Given the description of an element on the screen output the (x, y) to click on. 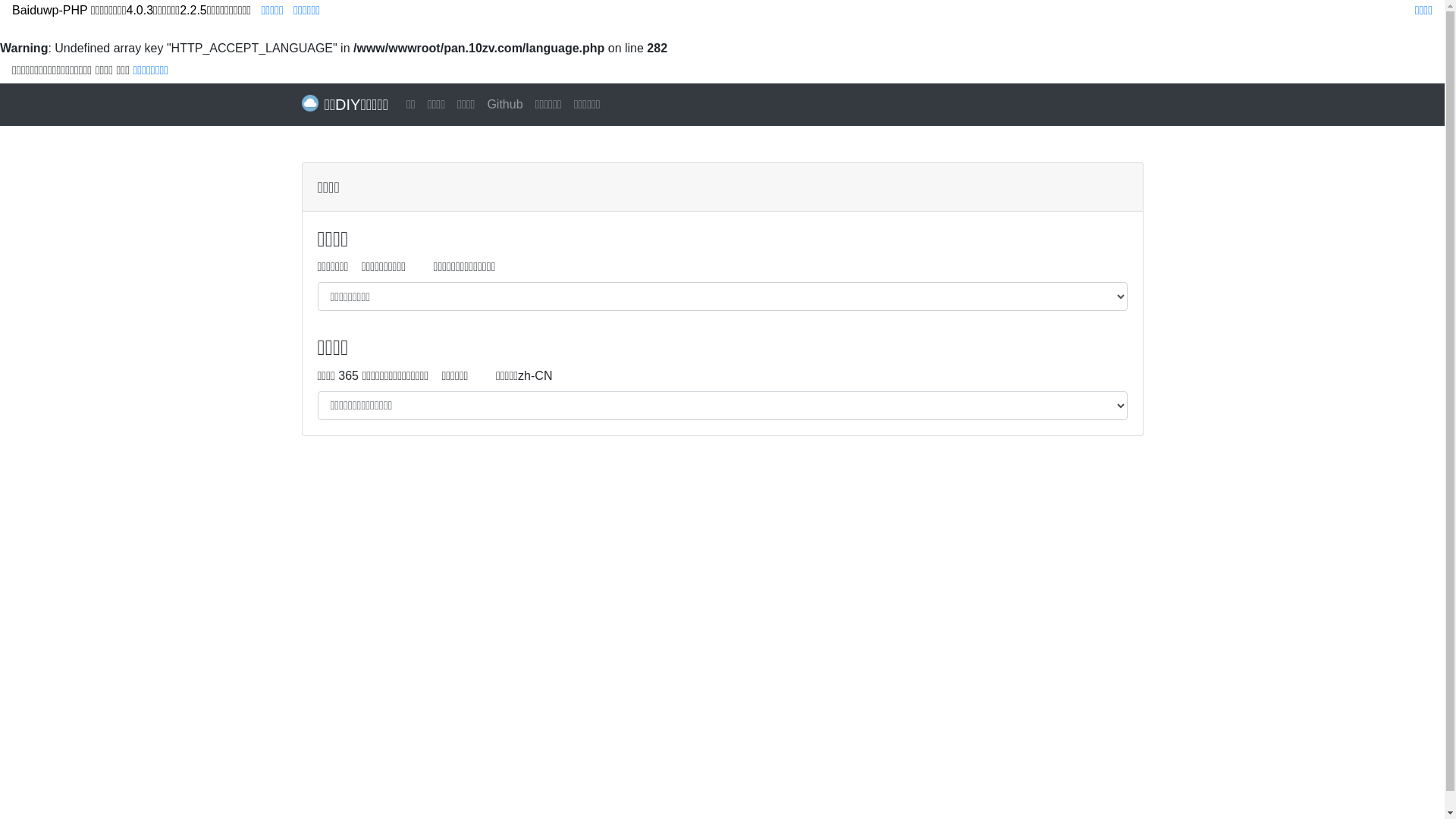
Github Element type: text (504, 104)
